Given the description of an element on the screen output the (x, y) to click on. 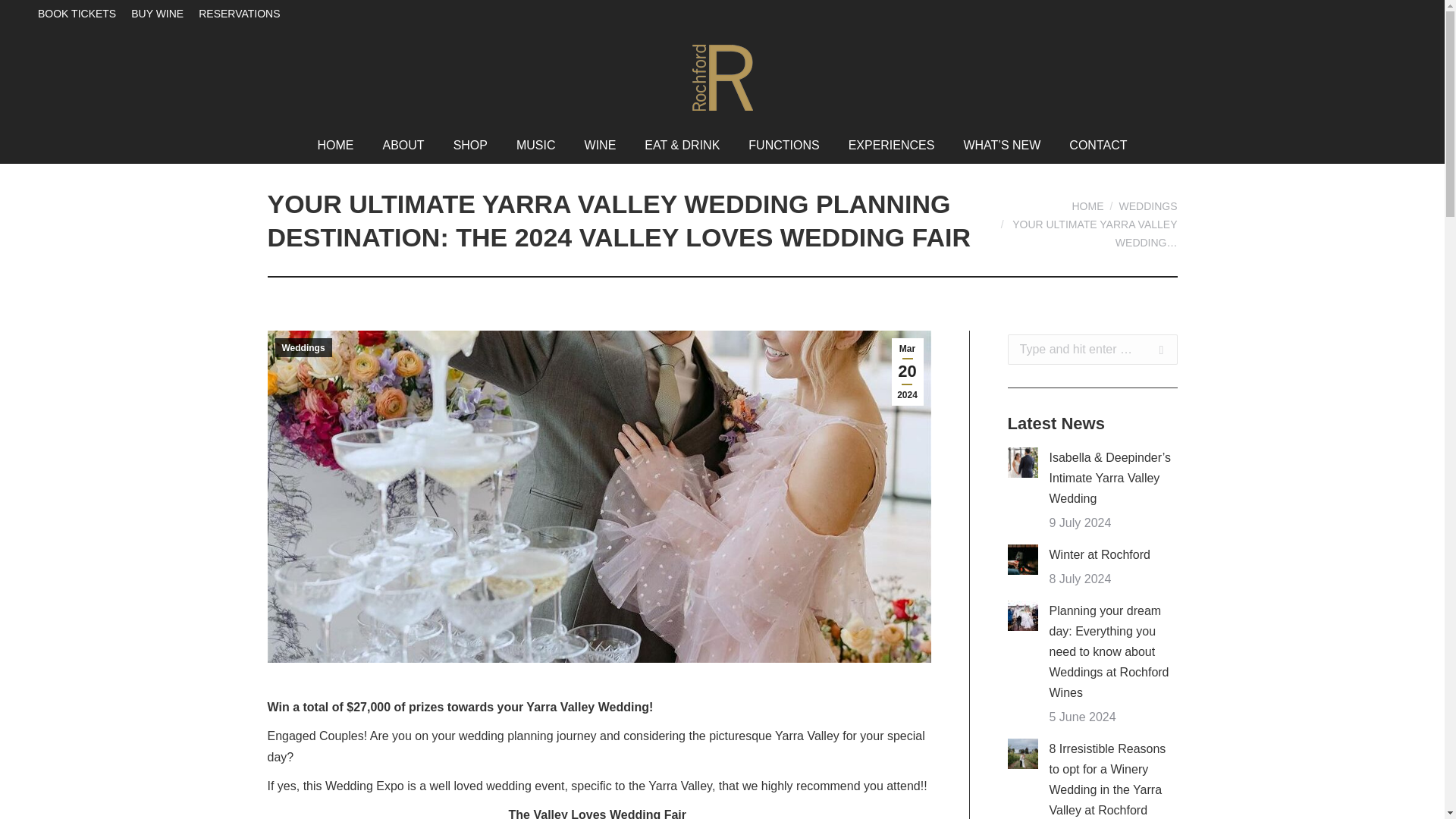
RESERVATIONS (238, 13)
Go! (1153, 349)
BOOK TICKETS (76, 13)
EXPERIENCES (891, 145)
SHOP (469, 145)
MUSIC (536, 145)
Go! (1153, 349)
BUY WINE (157, 13)
FUNCTIONS (783, 145)
HOME (335, 145)
ABOUT (402, 145)
WINE (600, 145)
CONTACT (1097, 145)
